Given the description of an element on the screen output the (x, y) to click on. 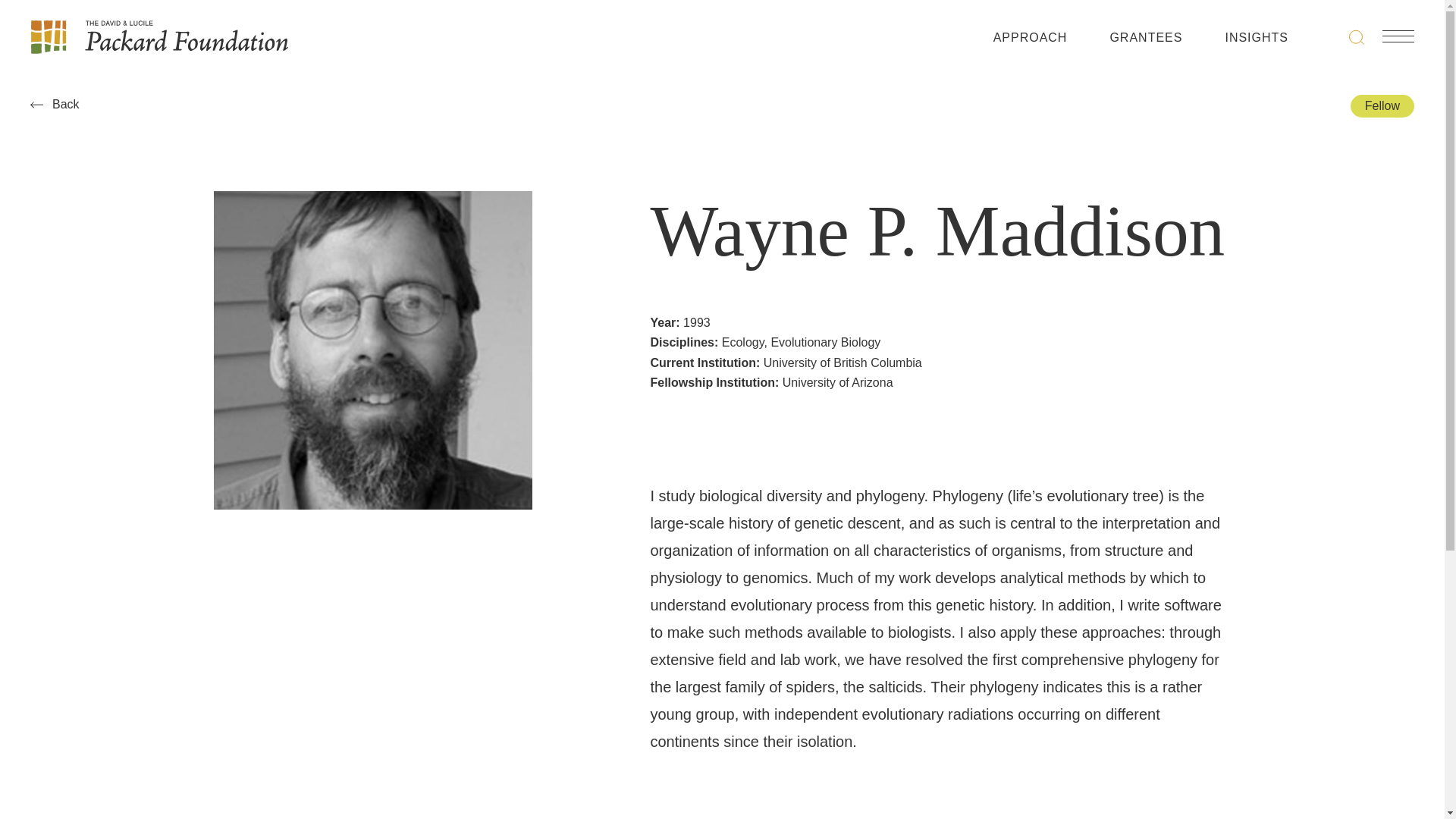
The David and Lucile Packard Foundation (159, 36)
Search (1356, 36)
GRANTEES (1145, 40)
Navigation Toggle (1397, 36)
INSIGHTS (1256, 40)
APPROACH (1029, 40)
Back (368, 103)
